Given the description of an element on the screen output the (x, y) to click on. 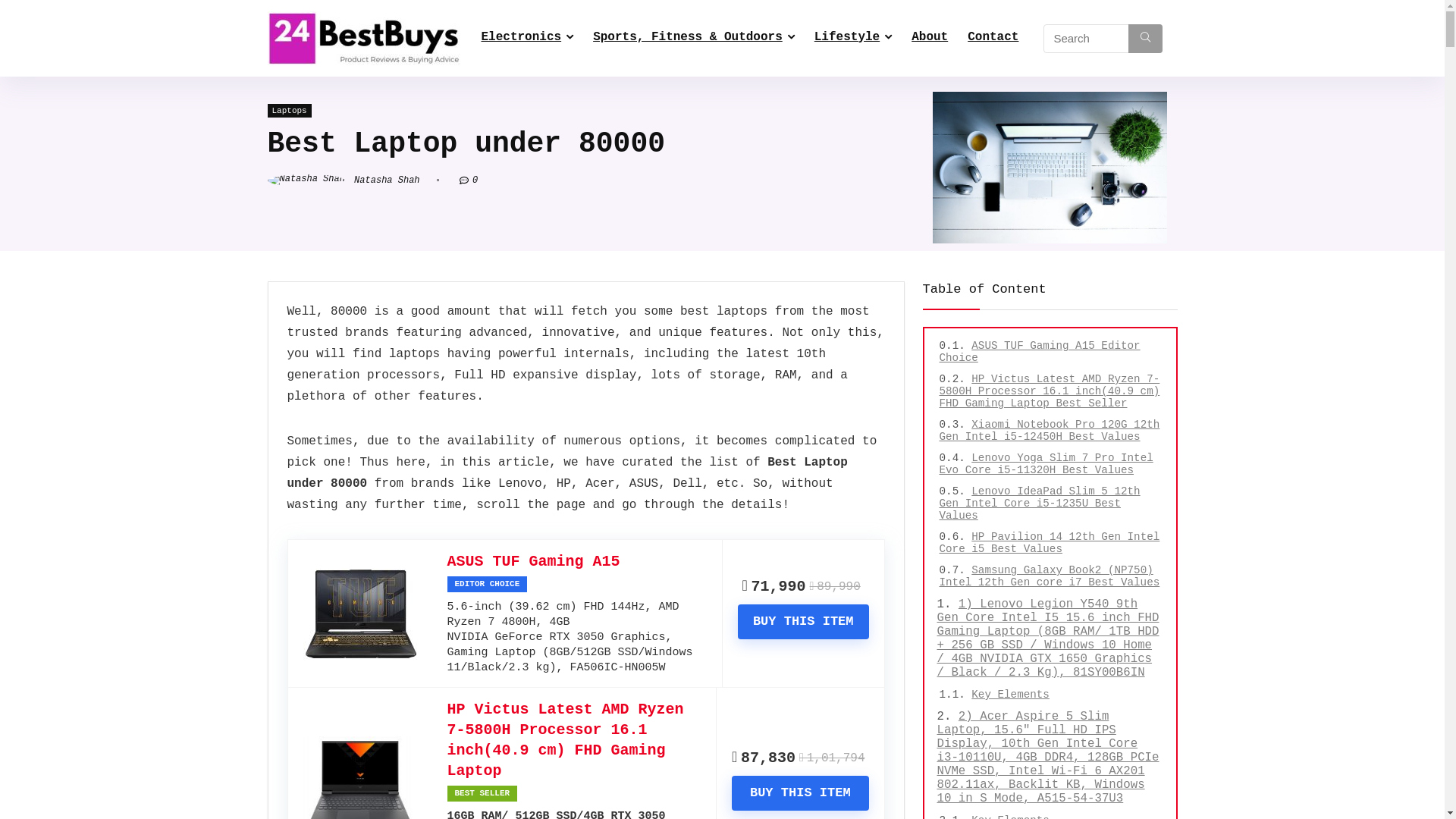
Contact Element type: text (992, 38)
Electronics Element type: text (527, 38)
BUY THIS ITEM Element type: text (803, 621)
ASUS TUF Gaming A15 Element type: text (533, 561)
Sports, Fitness & Outdoors Element type: text (693, 38)
ASUS TUF Gaming A15 Editor Choice Element type: text (1038, 351)
Key Elements Element type: text (1010, 694)
About Element type: text (929, 38)
BUY THIS ITEM Element type: text (799, 792)
0 Element type: text (474, 180)
Lenovo Yoga Slim 7 Pro Intel Evo Core i5-11320H Best Values Element type: text (1045, 463)
HP Pavilion 14 12th Gen Intel Core i5 Best Values Element type: text (1048, 542)
Laptops Element type: text (288, 110)
Lifestyle Element type: text (852, 38)
Natasha Shah Element type: text (342, 180)
